Given the description of an element on the screen output the (x, y) to click on. 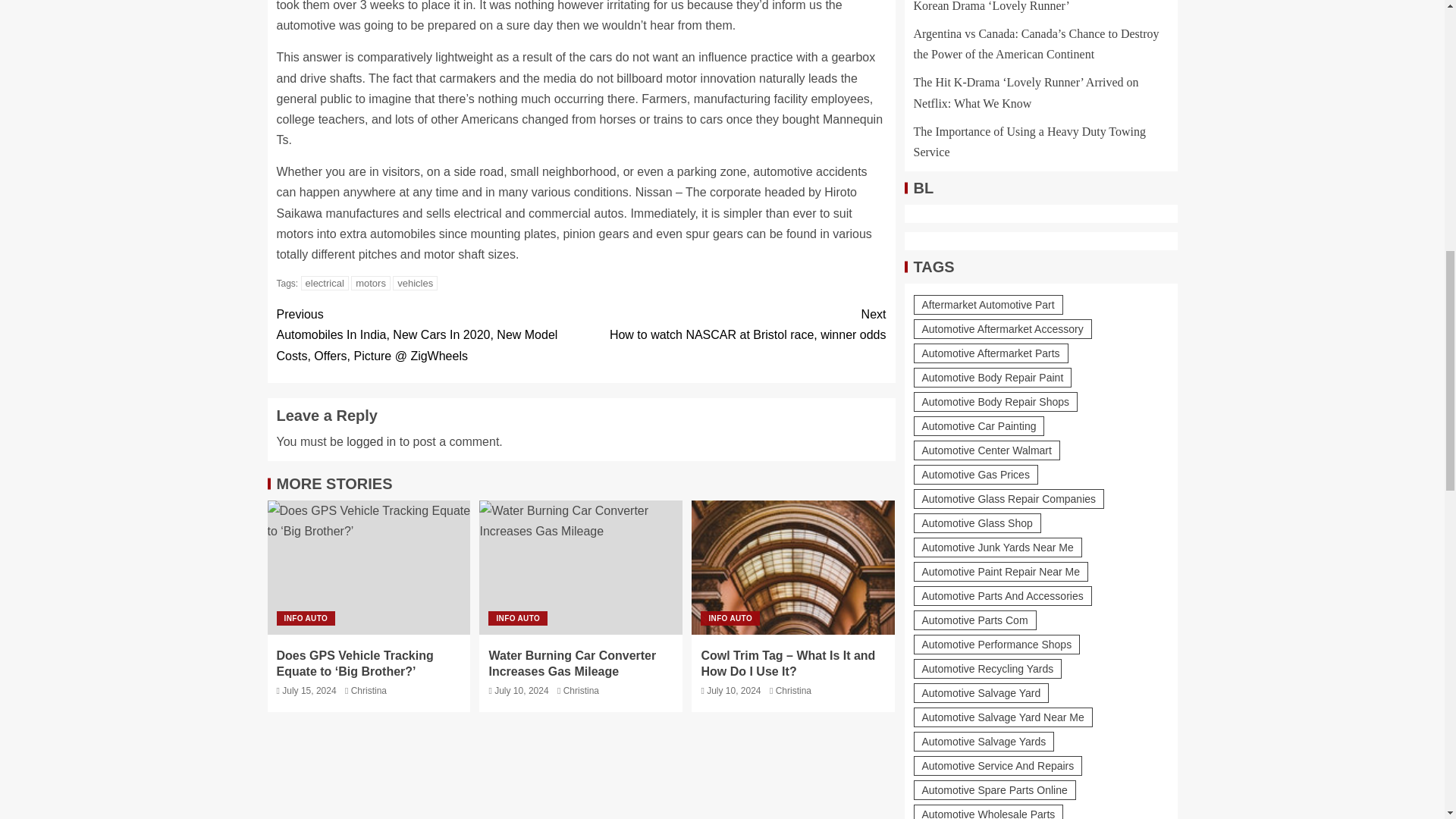
motors (370, 283)
INFO AUTO (517, 617)
Christina (732, 323)
vehicles (580, 690)
Water Burning Car Converter Increases Gas Mileage (415, 283)
Water Burning Car Converter Increases Gas Mileage (580, 567)
logged in (571, 663)
Christina (371, 440)
INFO AUTO (368, 690)
